Given the description of an element on the screen output the (x, y) to click on. 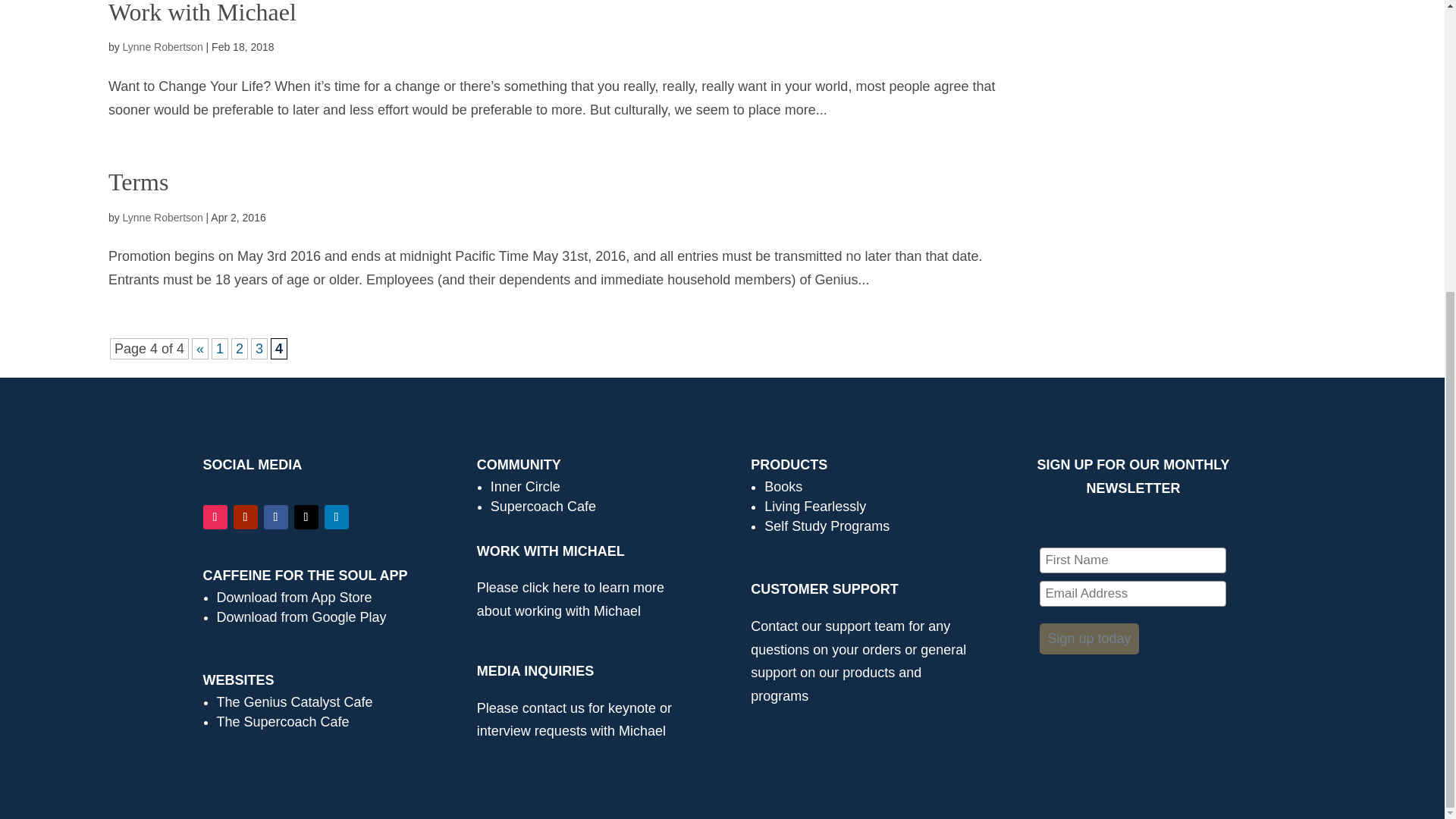
Posts by Lynne Robertson (162, 46)
Posts by Lynne Robertson (162, 217)
Supercoach Cafe (542, 506)
COMMUNITY (518, 464)
Follow on Facebook (275, 517)
The Genius Catalyst Cafe (294, 702)
The Supercoach Cafe (282, 721)
Follow on Youtube (244, 517)
WORK WITH MICHAEL  (552, 550)
Inner Circle (525, 486)
